Given the description of an element on the screen output the (x, y) to click on. 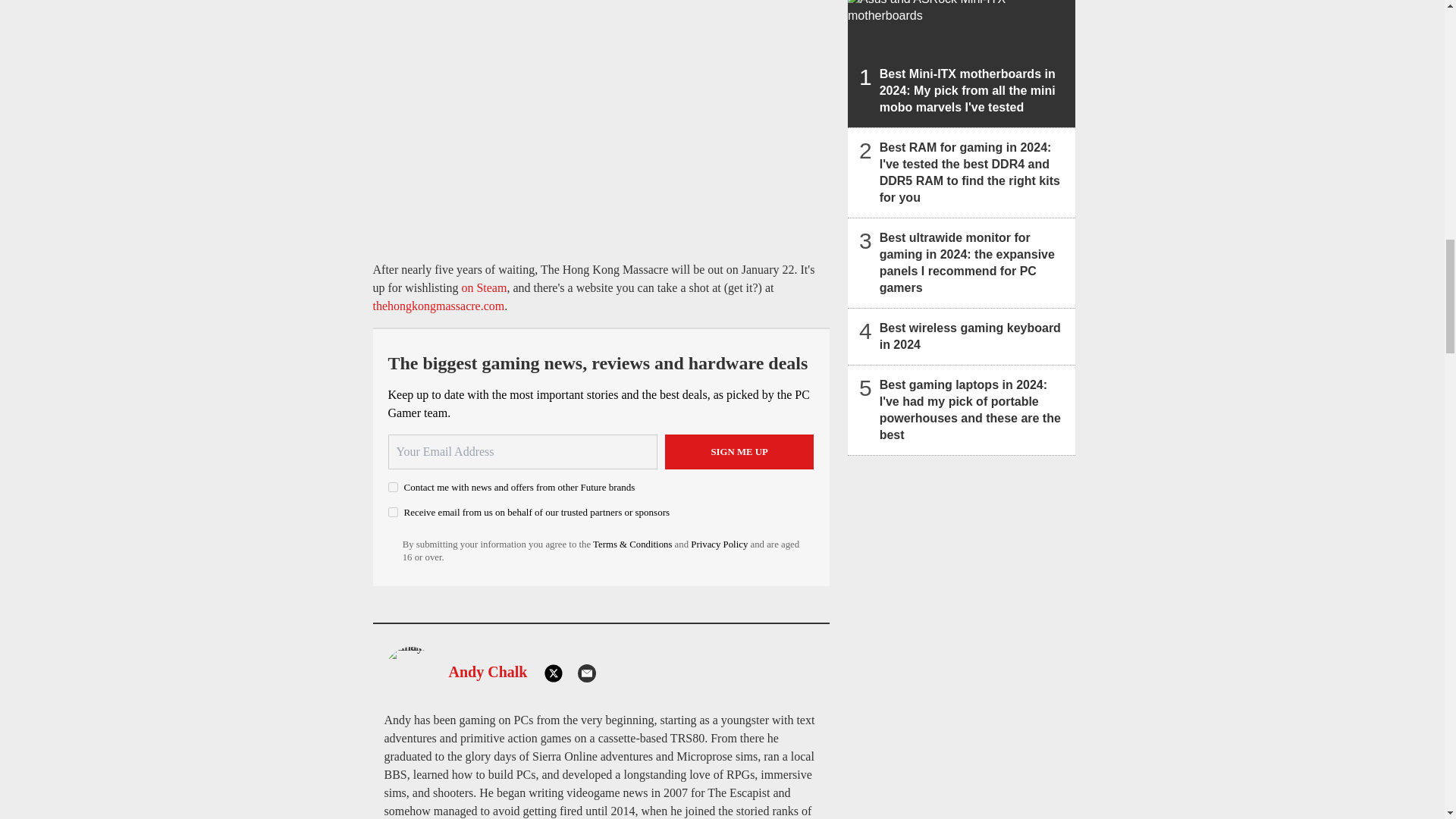
on (392, 487)
on (392, 511)
Sign me up (739, 451)
